Given the description of an element on the screen output the (x, y) to click on. 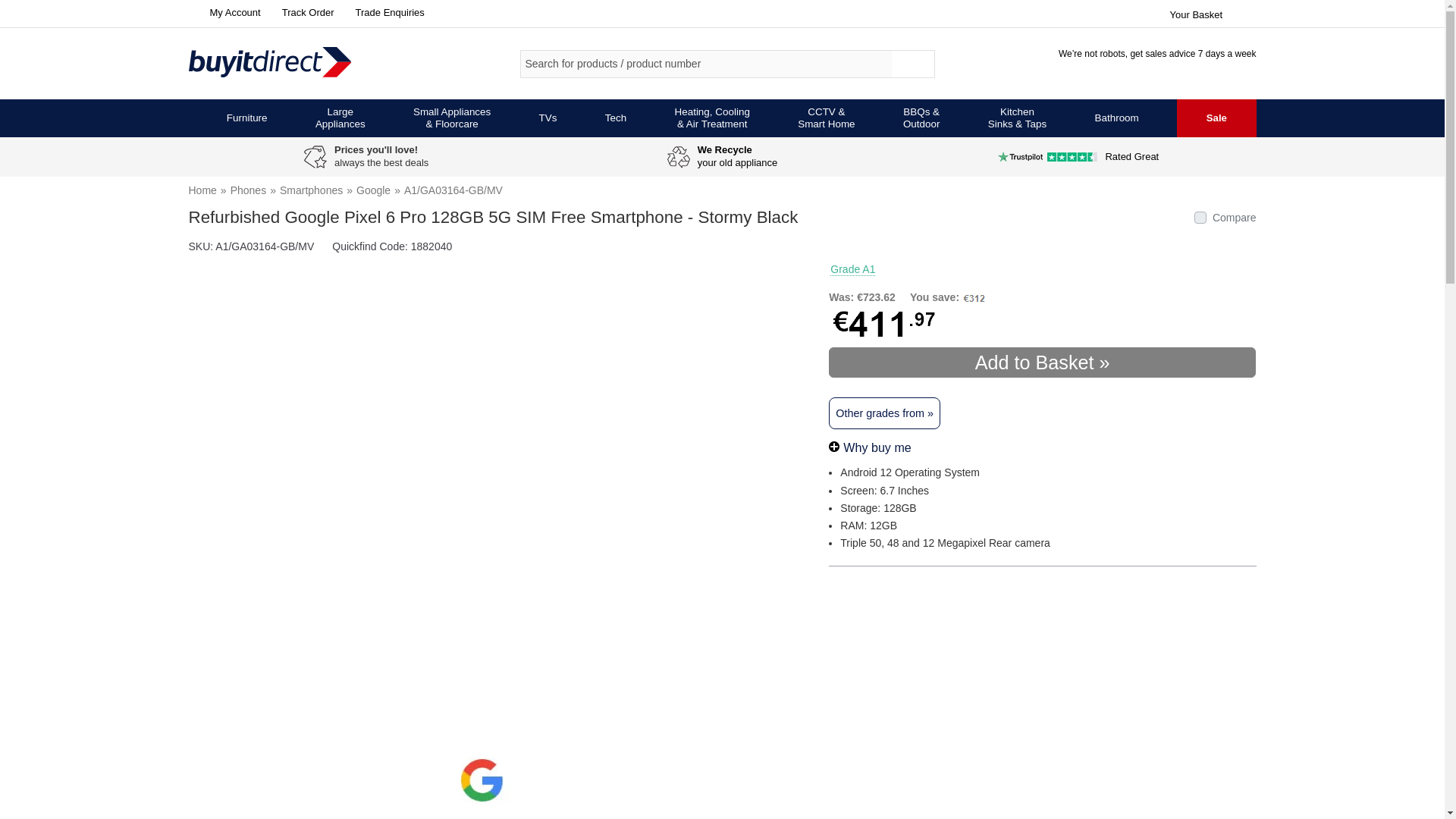
Furniture (247, 118)
Buy it Direct (294, 63)
Trade Enquiries (387, 12)
My Account (223, 12)
Your basket contains (1212, 12)
Trade Enquiries (387, 12)
Track Order (305, 12)
